Given the description of an element on the screen output the (x, y) to click on. 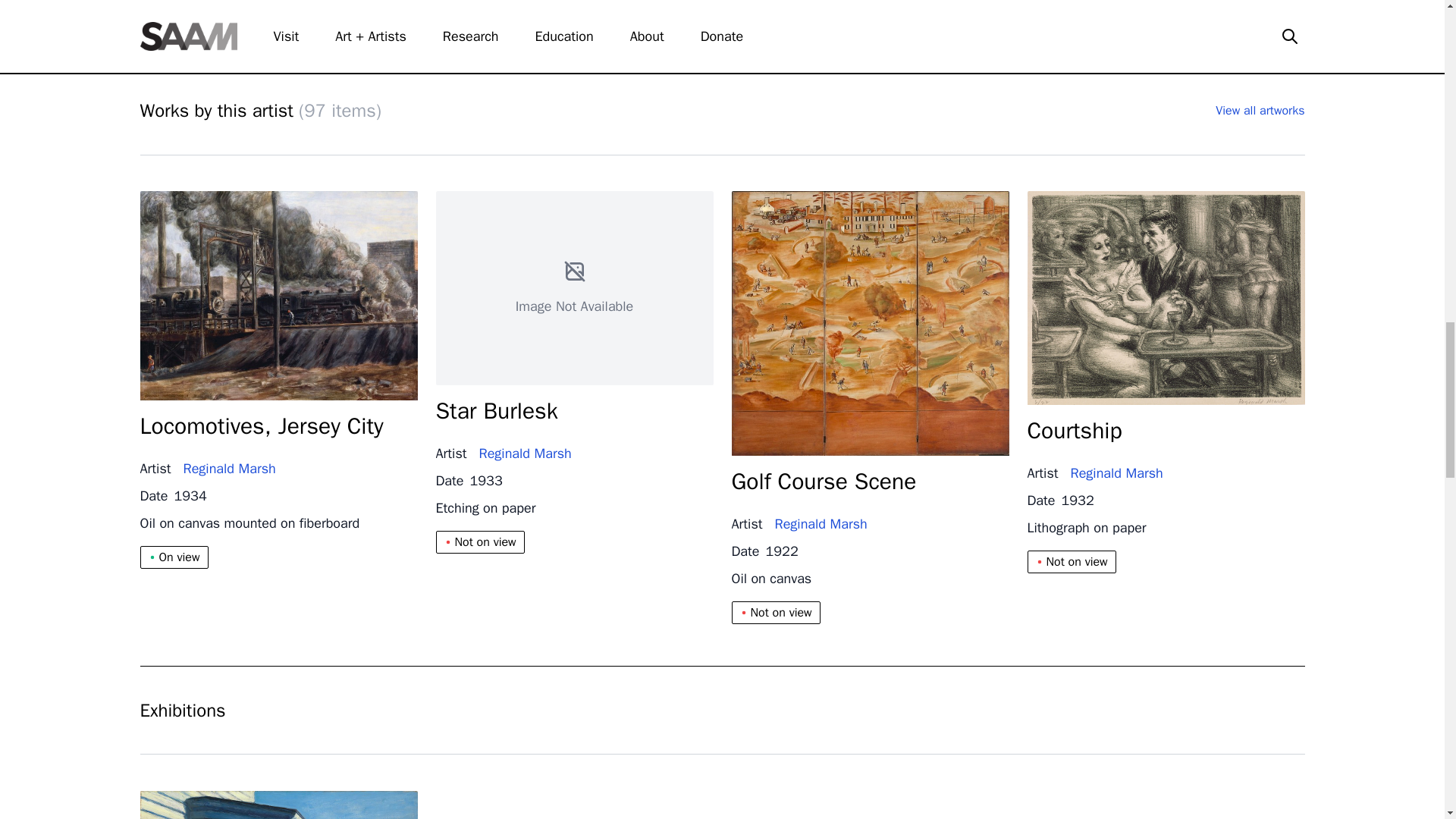
Exhibitions (721, 709)
